Given the description of an element on the screen output the (x, y) to click on. 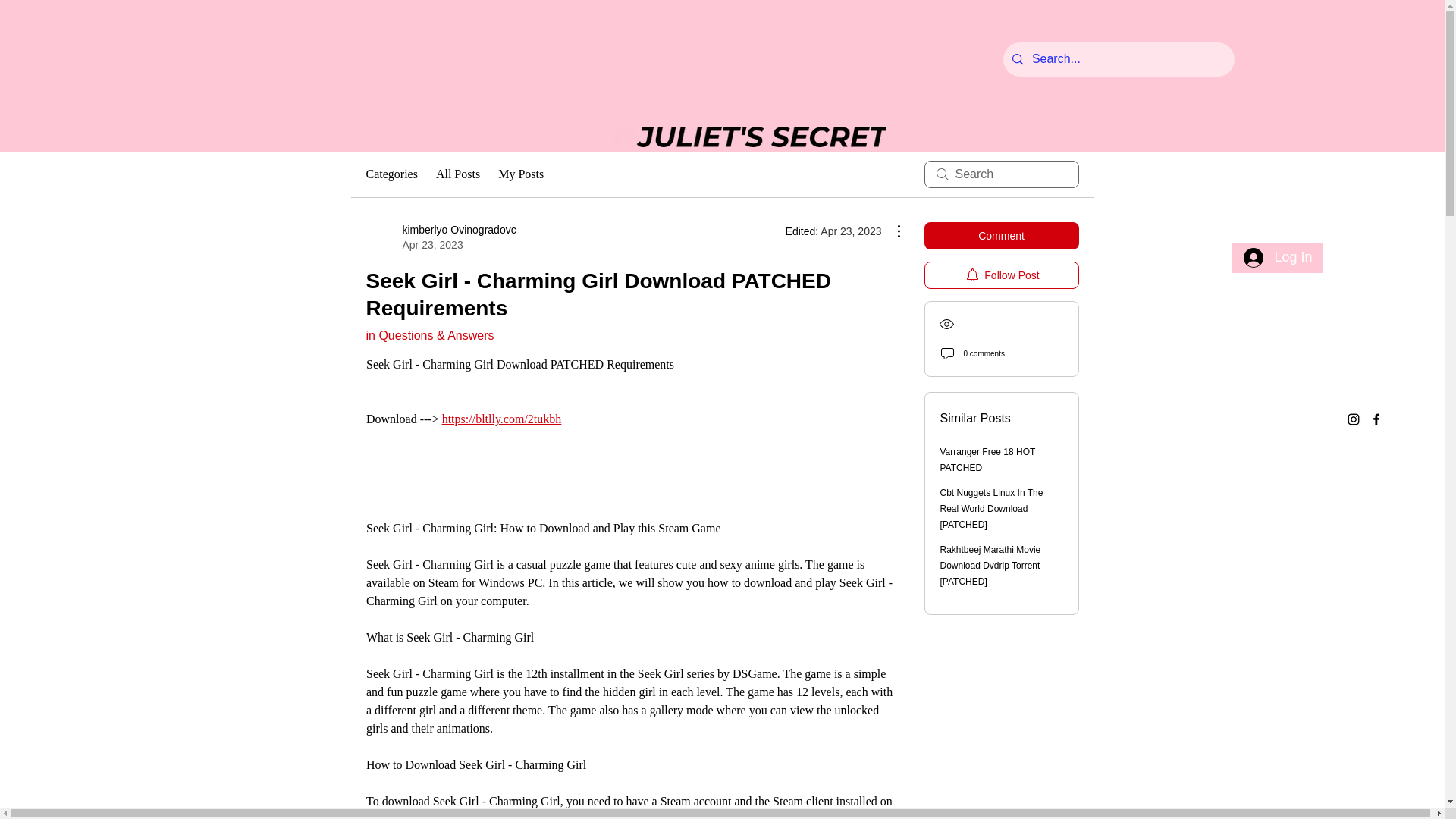
Log In (1277, 257)
Varranger Free 18 HOT PATCHED (987, 459)
Comment (1000, 235)
Categories (390, 174)
My Posts (520, 174)
Follow Post (440, 236)
All Posts (1000, 275)
